Given the description of an element on the screen output the (x, y) to click on. 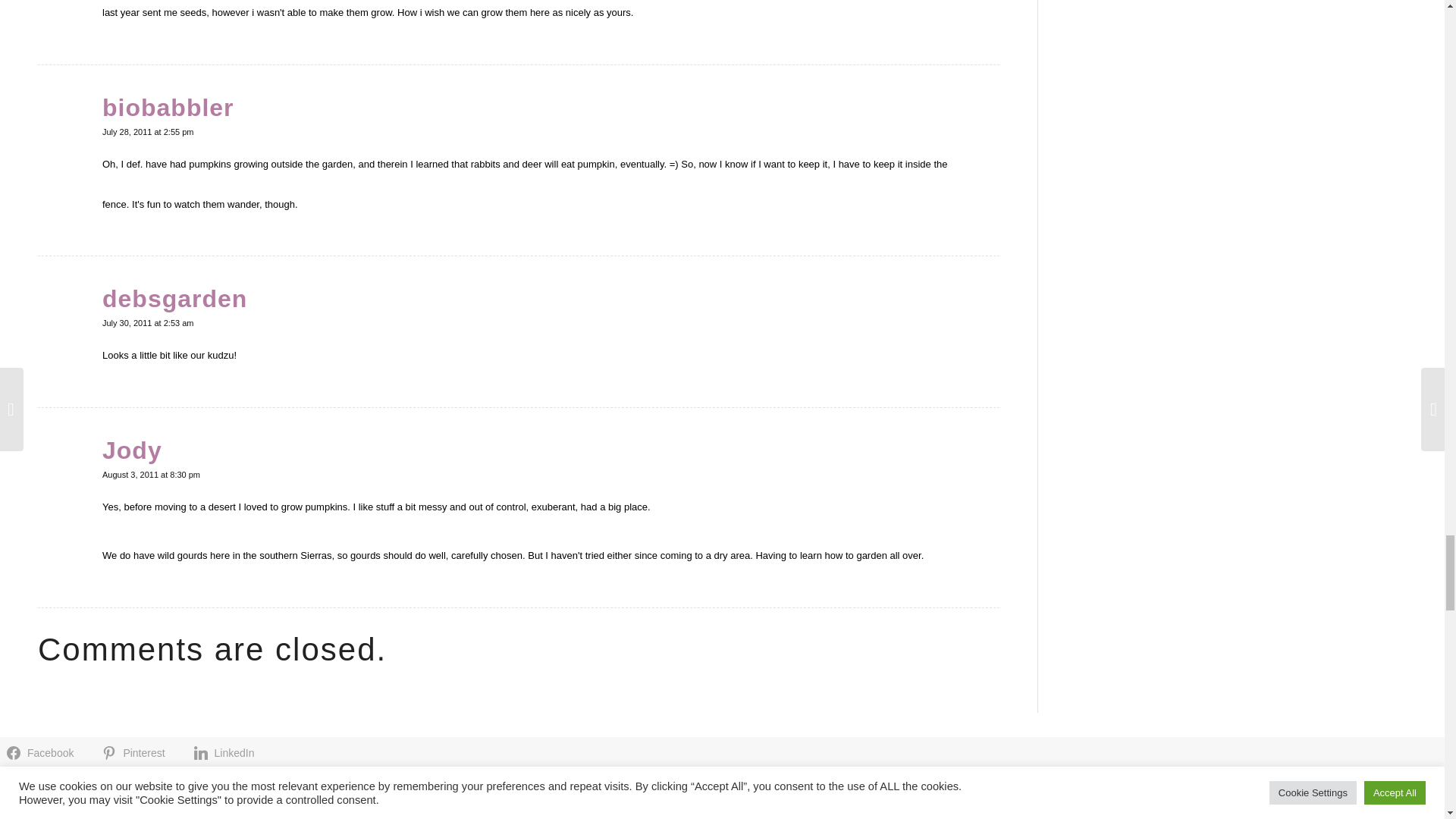
Jody (131, 450)
biobabbler (167, 107)
July 28, 2011 at 2:55 pm (147, 131)
Share on LinkedIn (226, 752)
July 30, 2011 at 2:53 am (147, 322)
debsgarden (174, 298)
Share on Facebook (42, 752)
Share on Pinterest (136, 752)
